Given the description of an element on the screen output the (x, y) to click on. 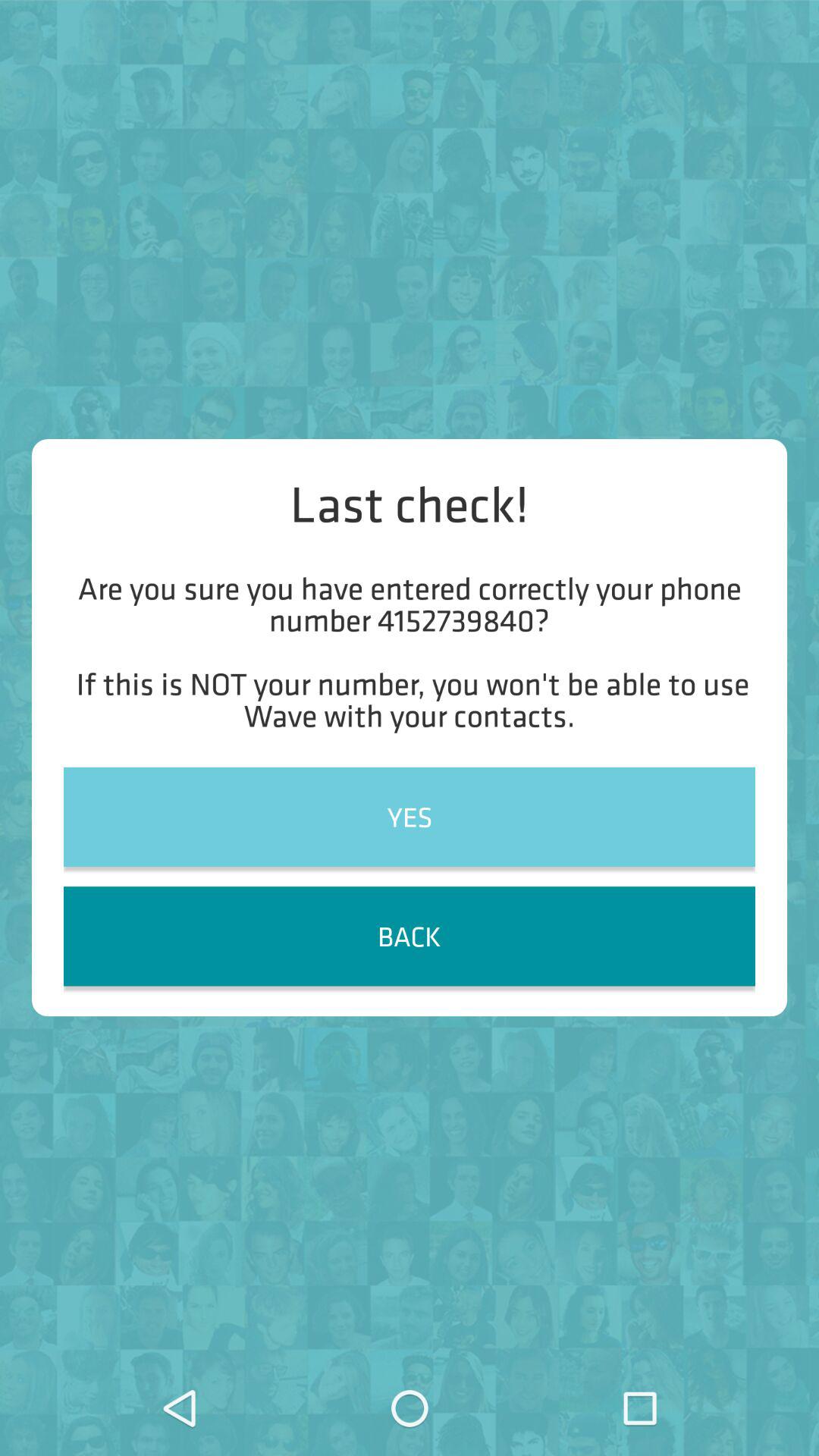
flip until back item (409, 936)
